Given the description of an element on the screen output the (x, y) to click on. 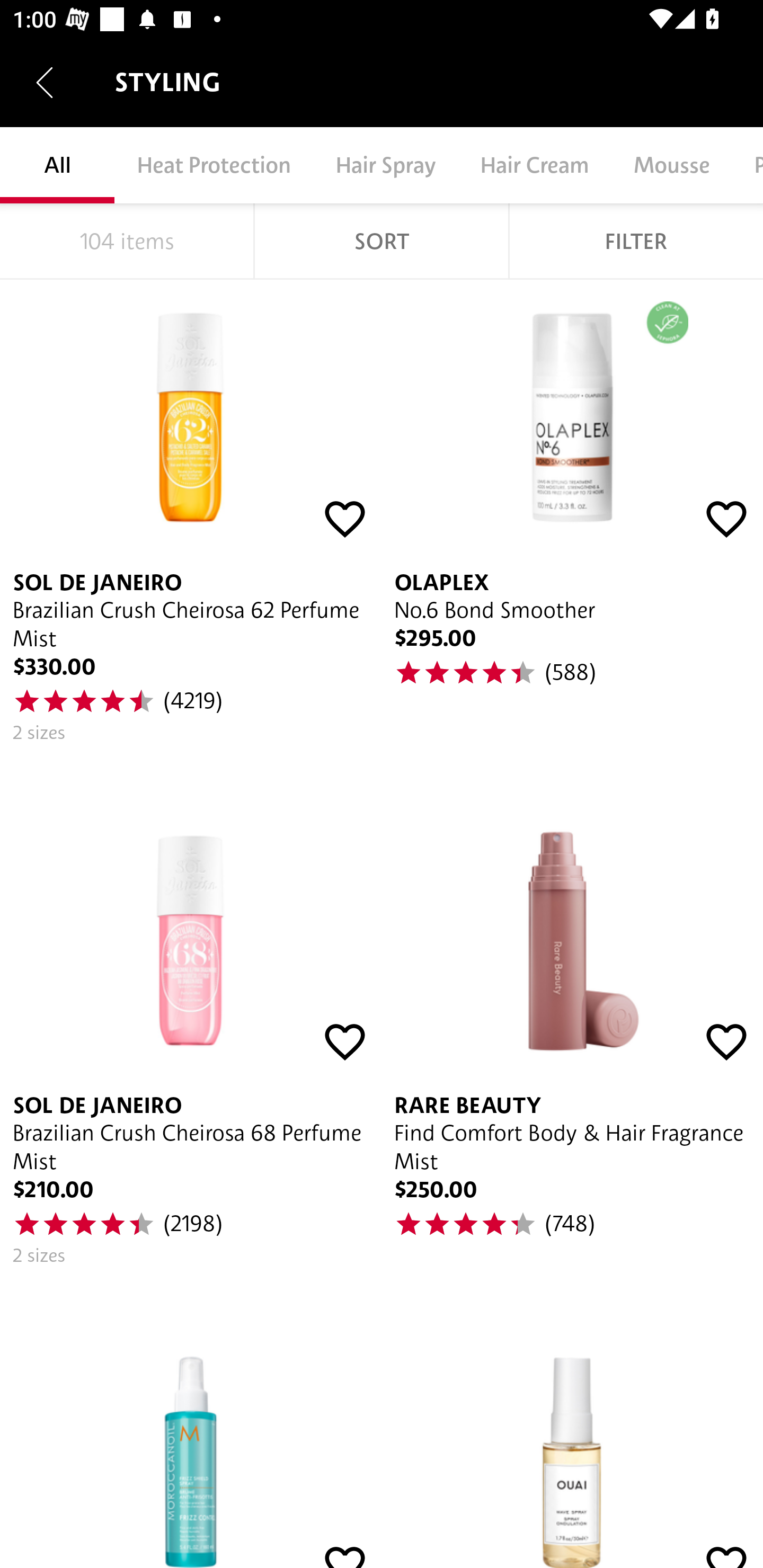
Navigate up (44, 82)
Heat Protection (213, 165)
Hair Spray (384, 165)
Hair Cream (534, 165)
Mousse (671, 165)
SORT (381, 241)
FILTER (636, 241)
OLAPLEX No.6 Bond Smoother $295.00 44.0 (588) (572, 518)
